Given the description of an element on the screen output the (x, y) to click on. 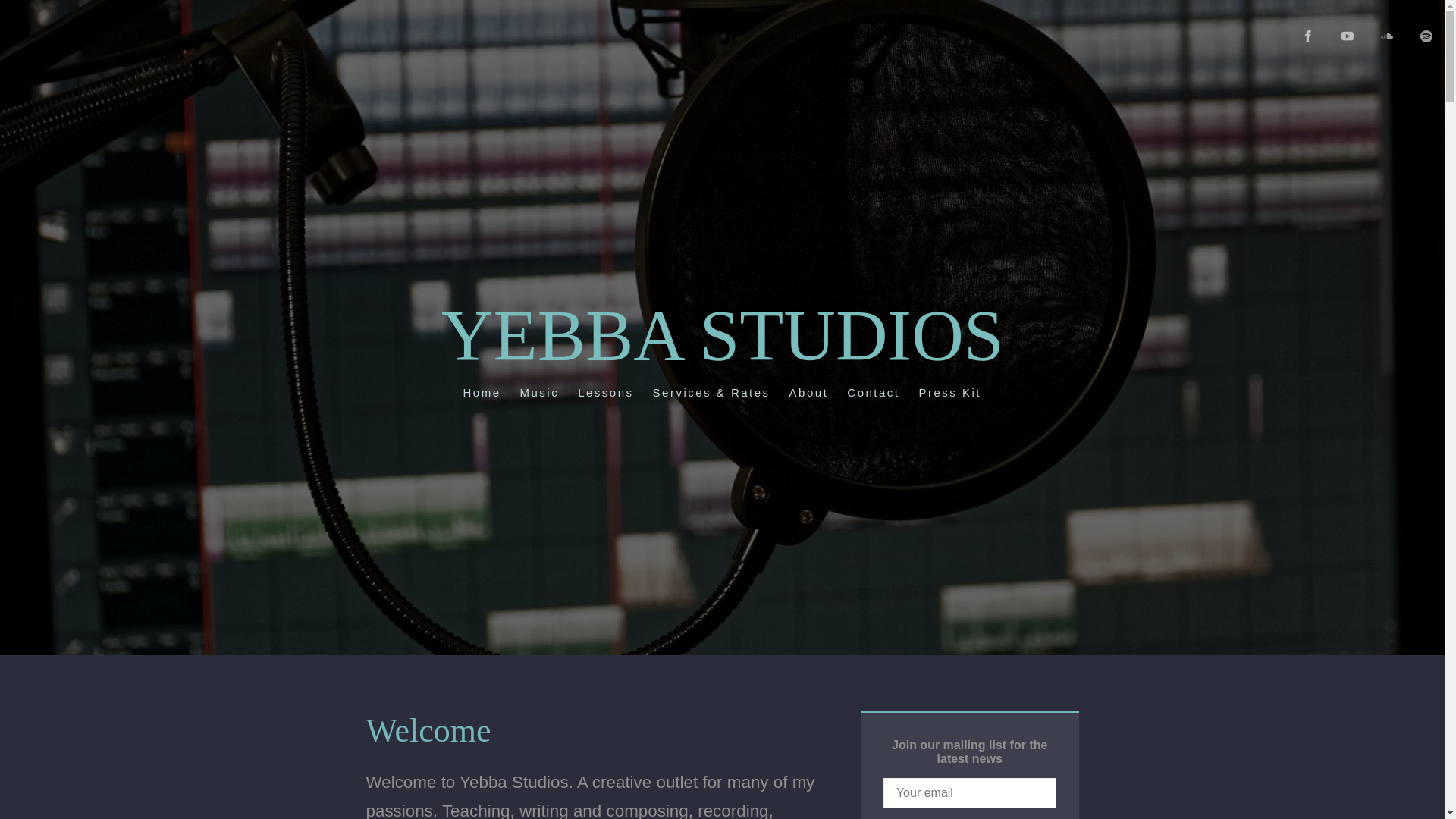
Press Kit (968, 410)
